Given the description of an element on the screen output the (x, y) to click on. 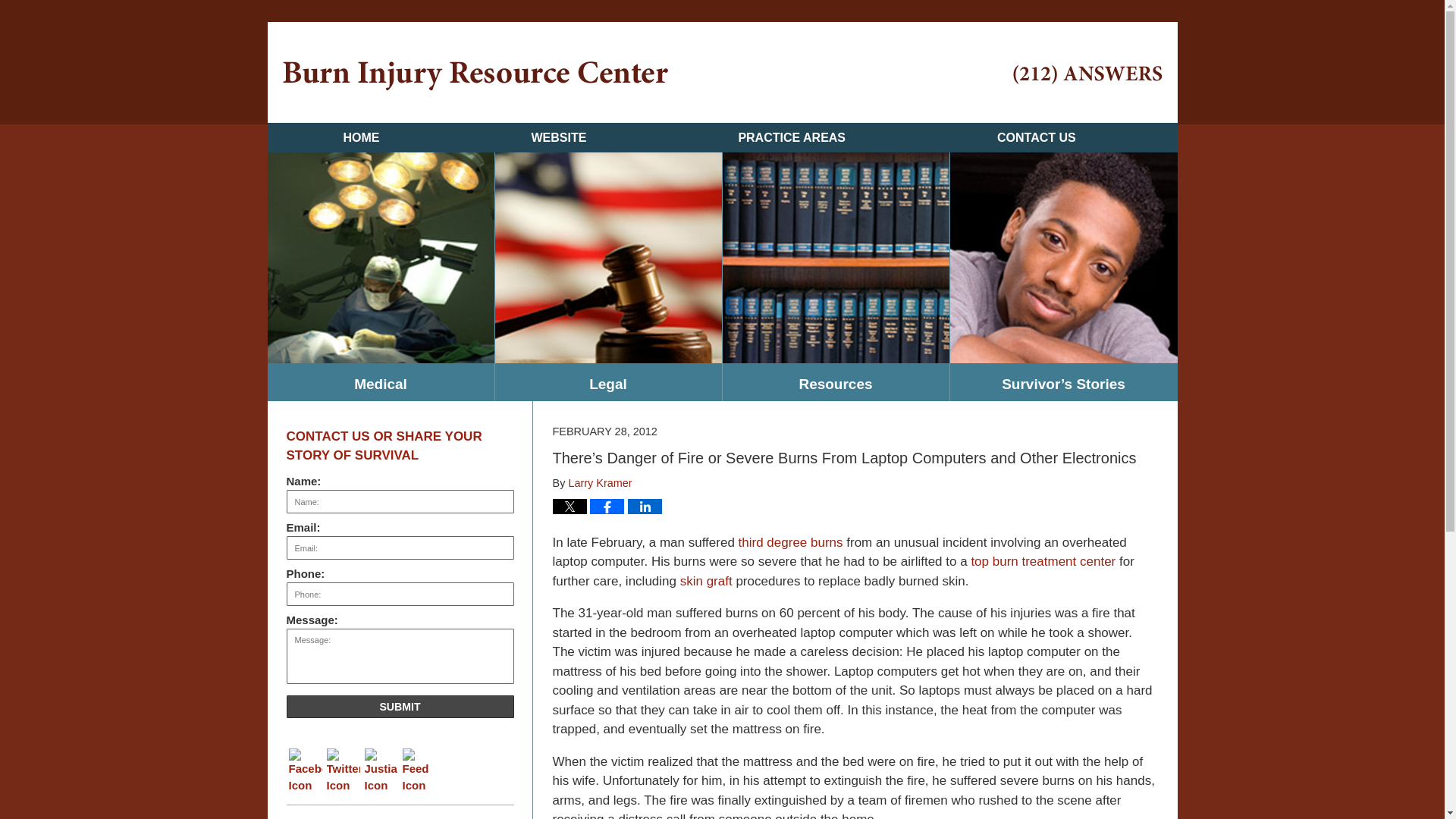
HOME (360, 137)
Legal (607, 382)
PRACTICE AREAS (791, 137)
CONTACT US (1036, 137)
Larry Kramer (599, 482)
Medical (379, 382)
SUBMIT (399, 706)
WEBSITE (558, 137)
Resources (835, 382)
skin graft (705, 581)
